Given the description of an element on the screen output the (x, y) to click on. 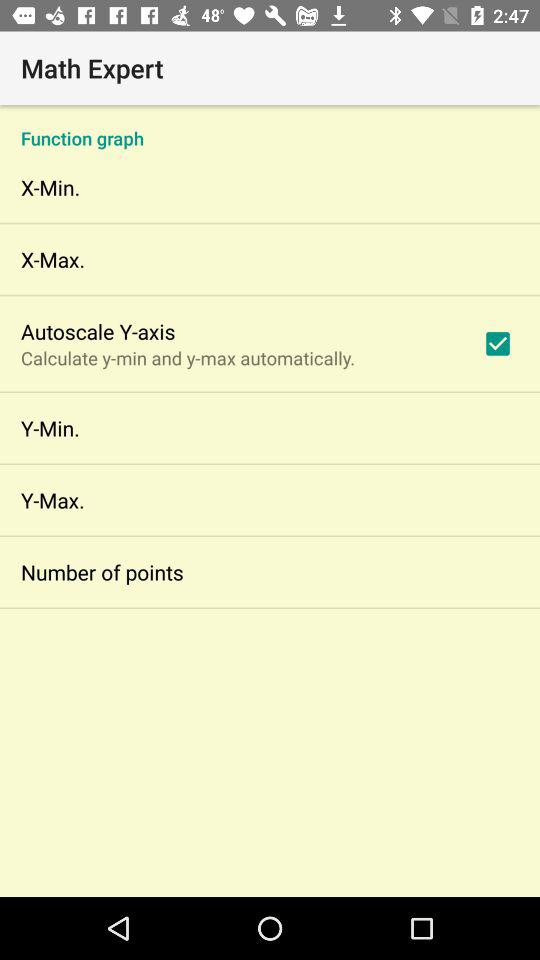
turn on autoscale y-axis (98, 331)
